Given the description of an element on the screen output the (x, y) to click on. 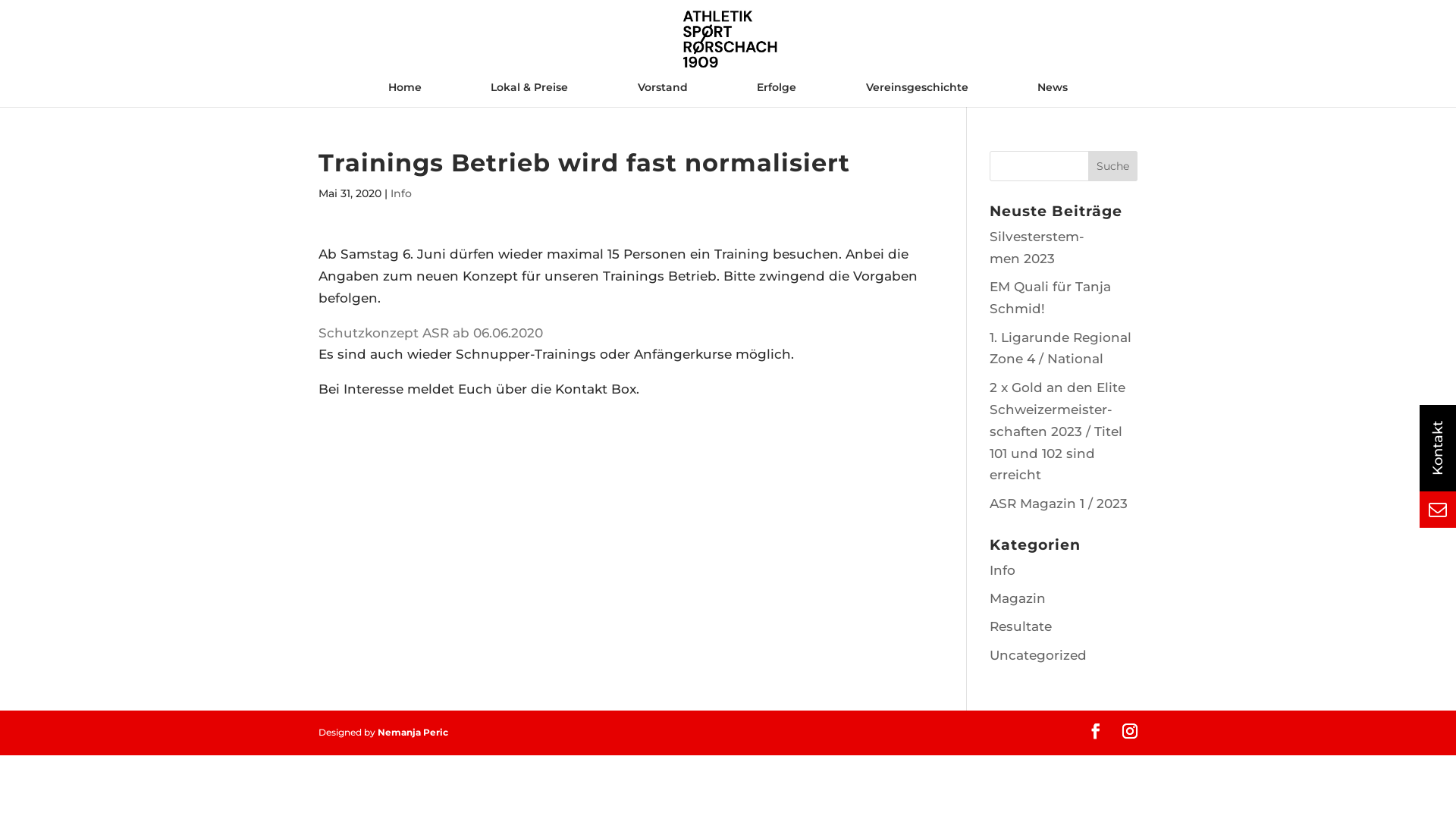
Info Element type: text (1002, 569)
Uncategorized Element type: text (1037, 654)
Lokal & Preise Element type: text (528, 93)
News Element type: text (1052, 93)
Info Element type: text (400, 193)
Resultate Element type: text (1020, 625)
Home Element type: text (404, 93)
Magazin Element type: text (1017, 597)
Suche Element type: text (1112, 165)
Nemanja Peric Element type: text (412, 731)
